Given the description of an element on the screen output the (x, y) to click on. 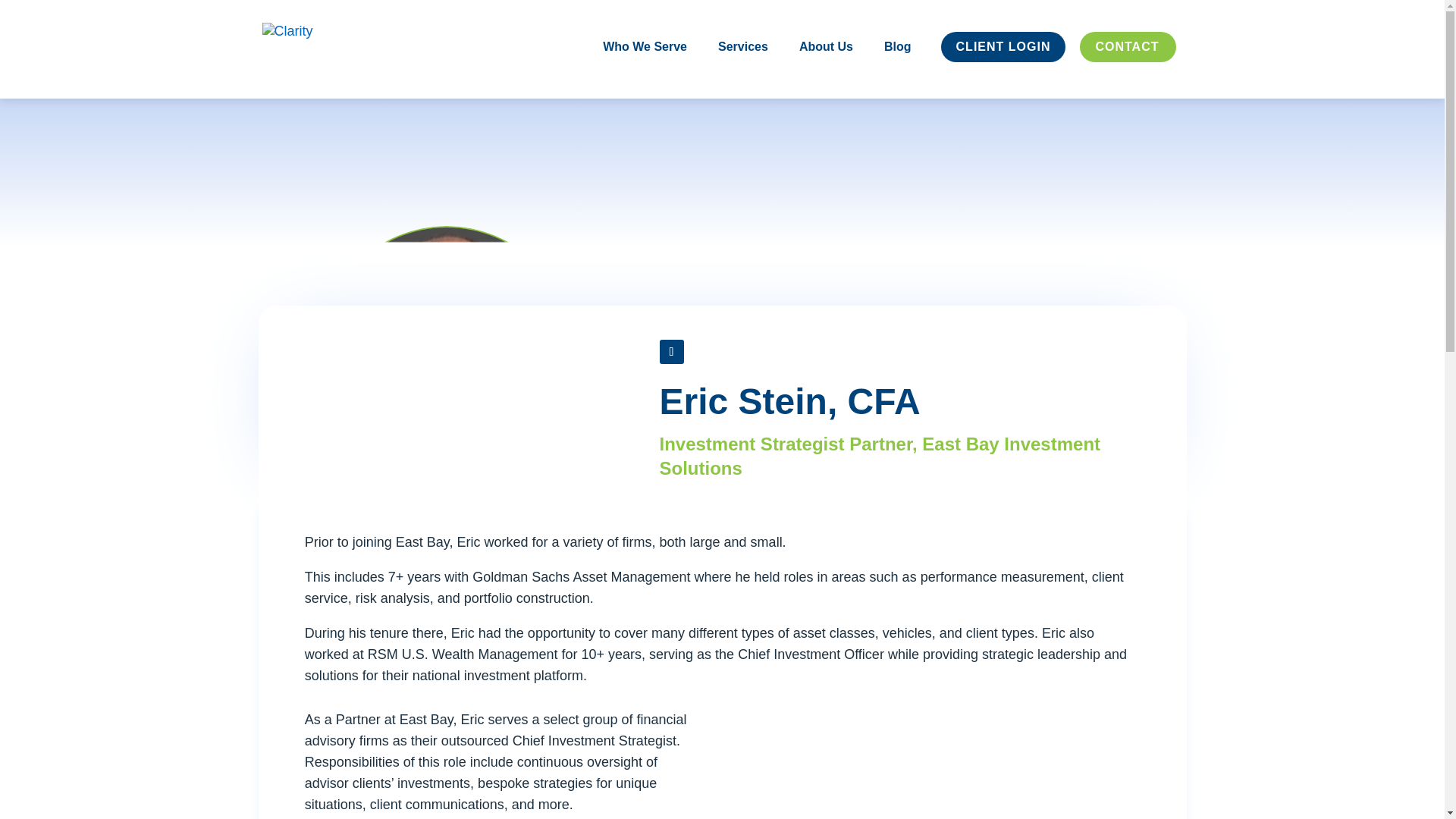
Follow on LinkedIn (671, 351)
Who We Serve (644, 67)
CONTACT (1126, 67)
About Us (826, 67)
CLIENT LOGIN (1003, 67)
kay-dee-large (445, 353)
